Given the description of an element on the screen output the (x, y) to click on. 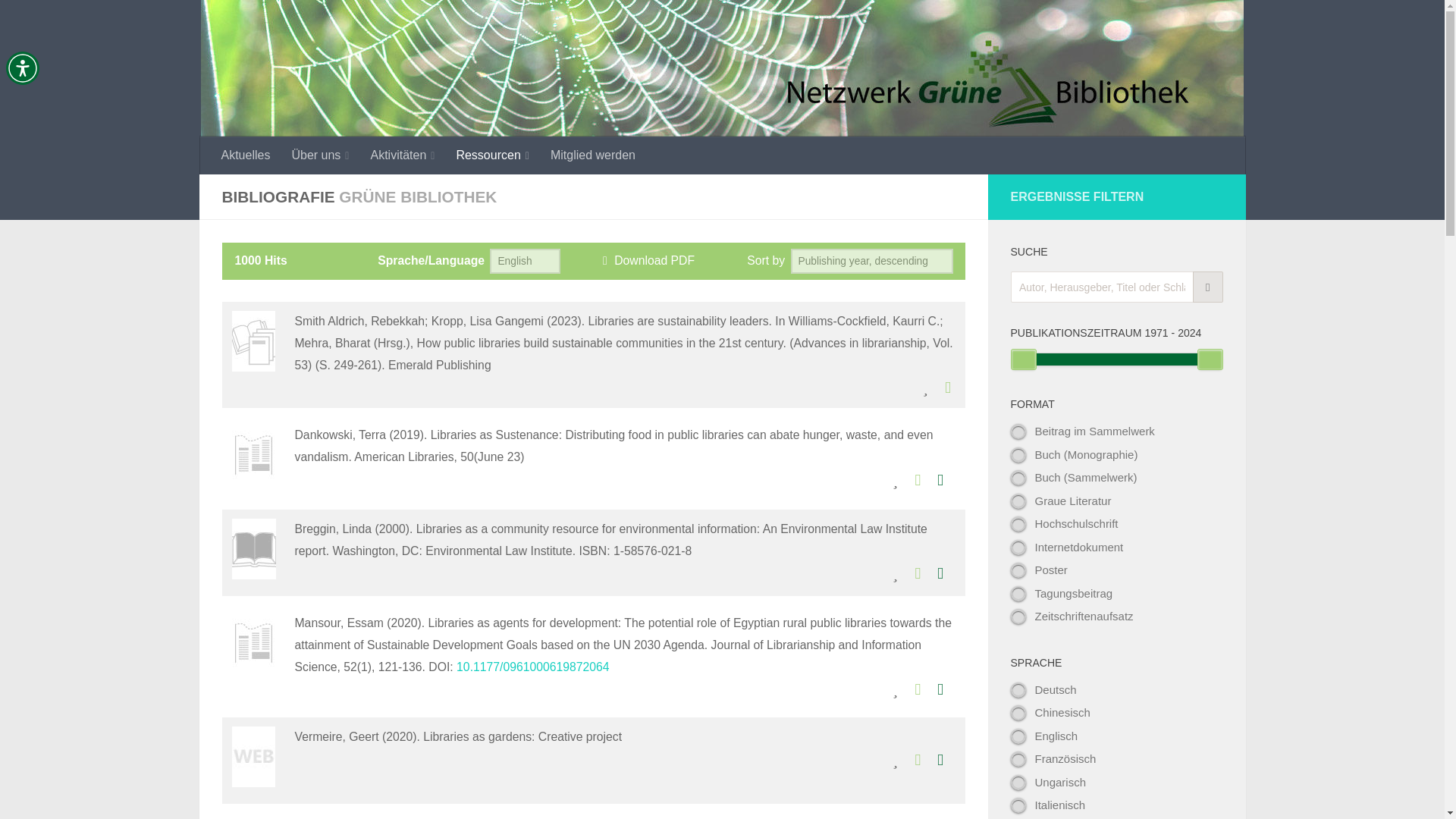
Aktuelles (246, 155)
Journal Article (253, 455)
Chapter (253, 341)
Ressourcen (492, 155)
Add to bookmarks (894, 480)
Accessibility Menu (22, 68)
Book (253, 548)
Bibliografie als PDF downloaden (646, 259)
Add to bookmarks (925, 387)
